Given the description of an element on the screen output the (x, y) to click on. 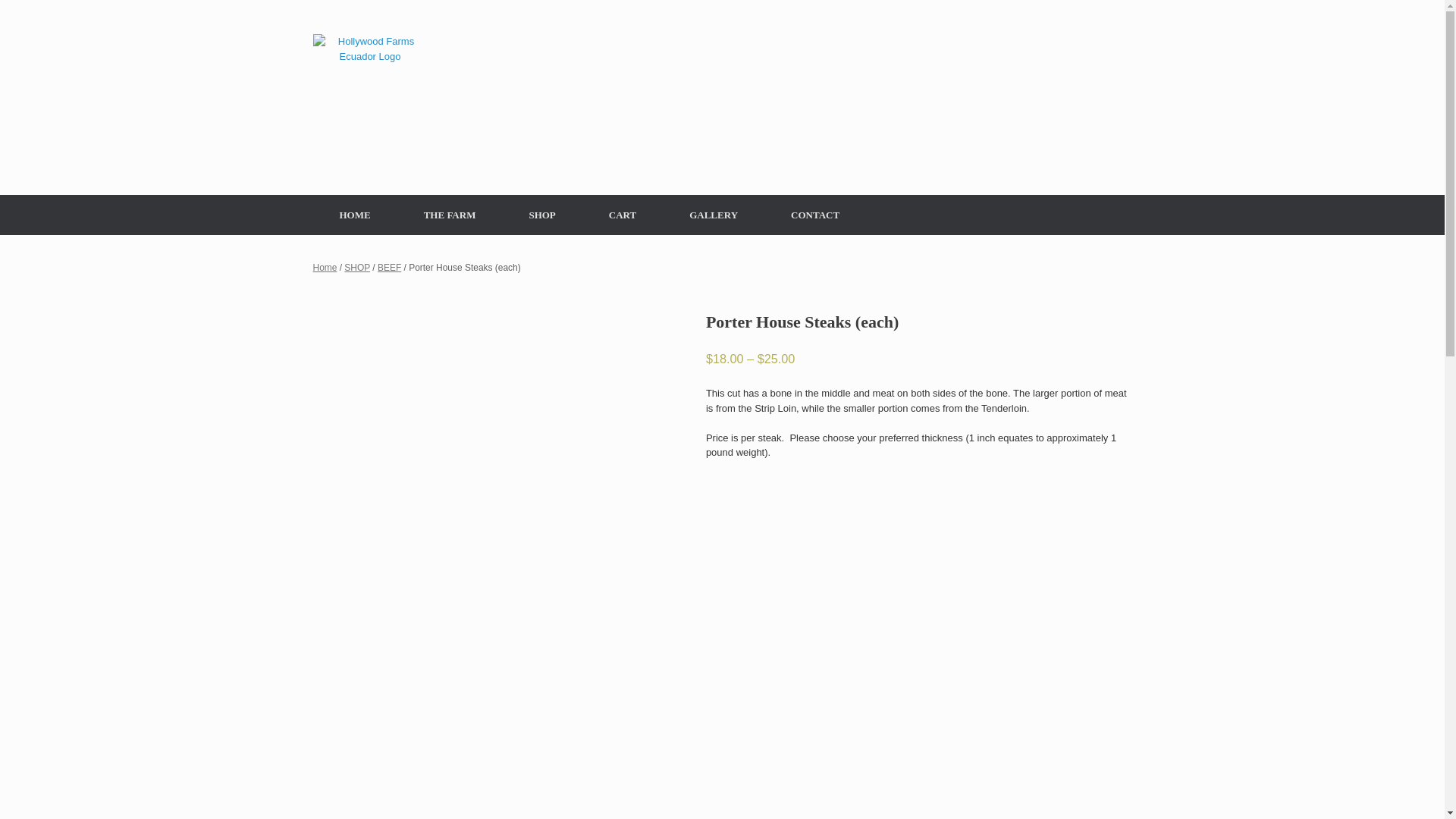
CART (622, 214)
GALLERY (713, 214)
SHOP (541, 214)
SHOP (356, 267)
Hollywood Farms Ecuador (369, 91)
HOME (354, 214)
CONTACT (815, 214)
THE FARM (449, 214)
BEEF (389, 267)
Home (324, 267)
